Given the description of an element on the screen output the (x, y) to click on. 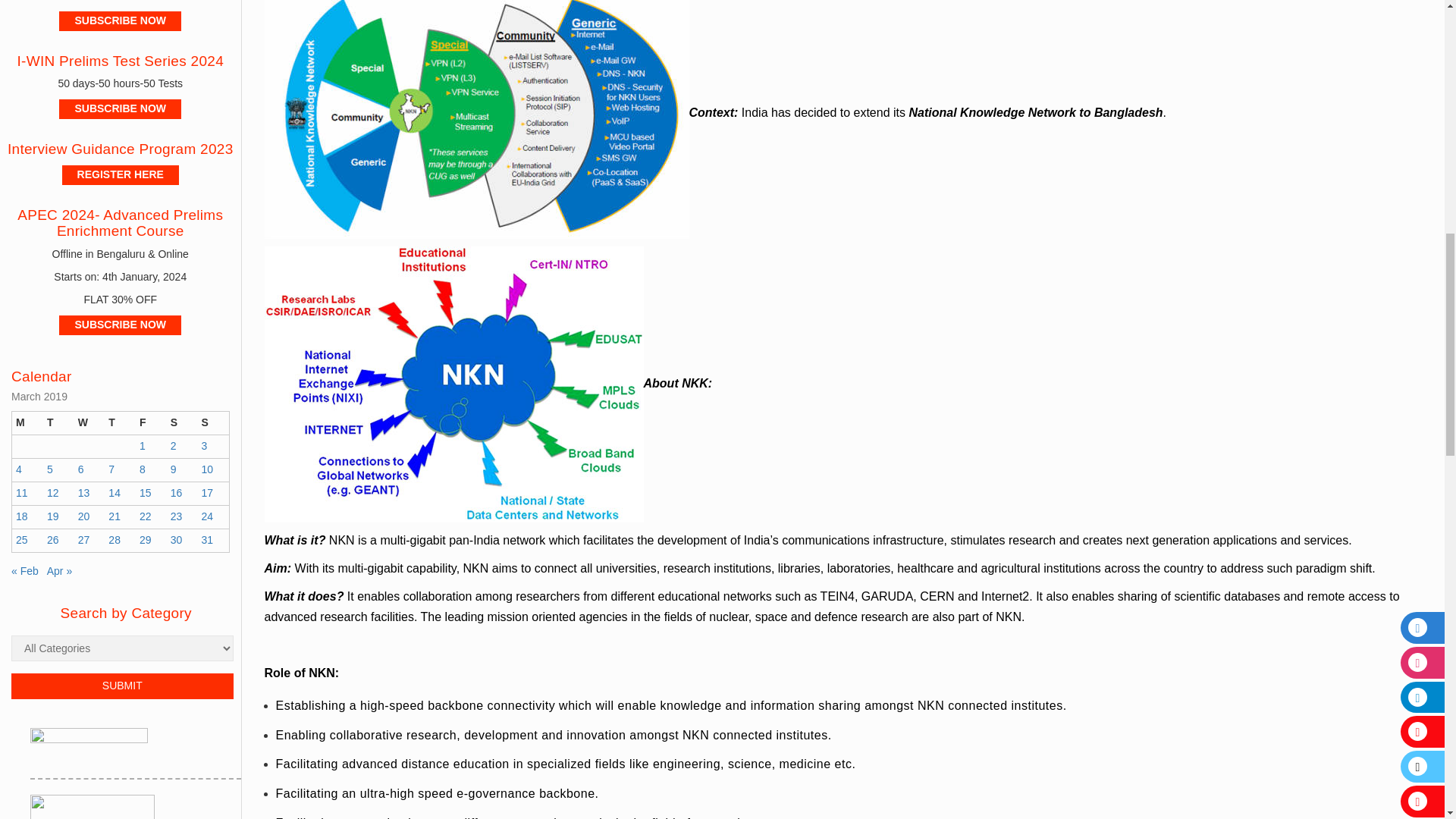
Wednesday (89, 422)
Thursday (119, 422)
Monday (27, 422)
Saturday (182, 422)
Friday (151, 422)
Tuesday (58, 422)
Submit (121, 686)
Sunday (212, 422)
